Given the description of an element on the screen output the (x, y) to click on. 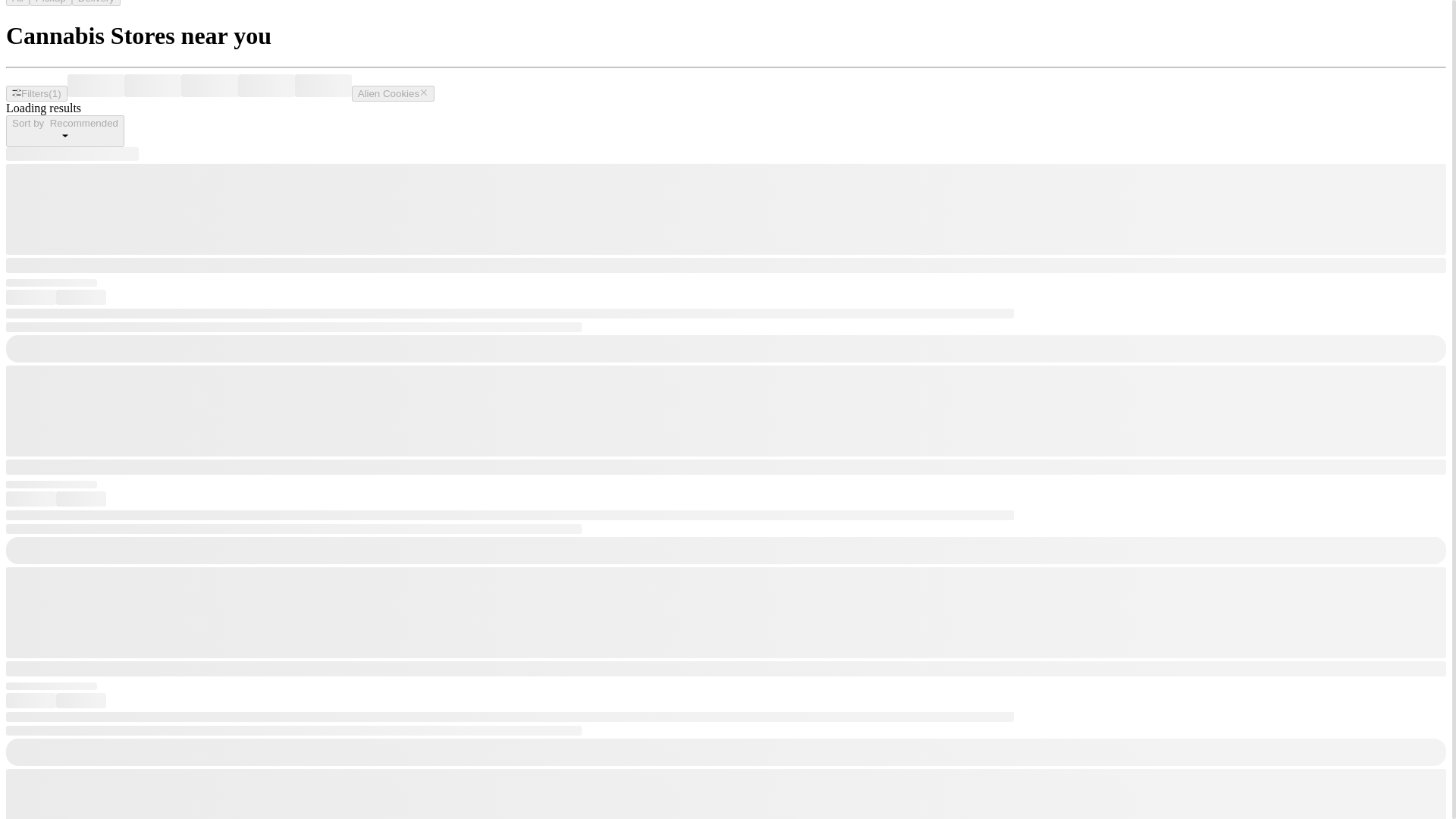
Loading... (266, 85)
Loading... (94, 85)
Loading... (323, 85)
Alien Cookies (393, 93)
Loading... (209, 85)
Loading... (151, 85)
